Given the description of an element on the screen output the (x, y) to click on. 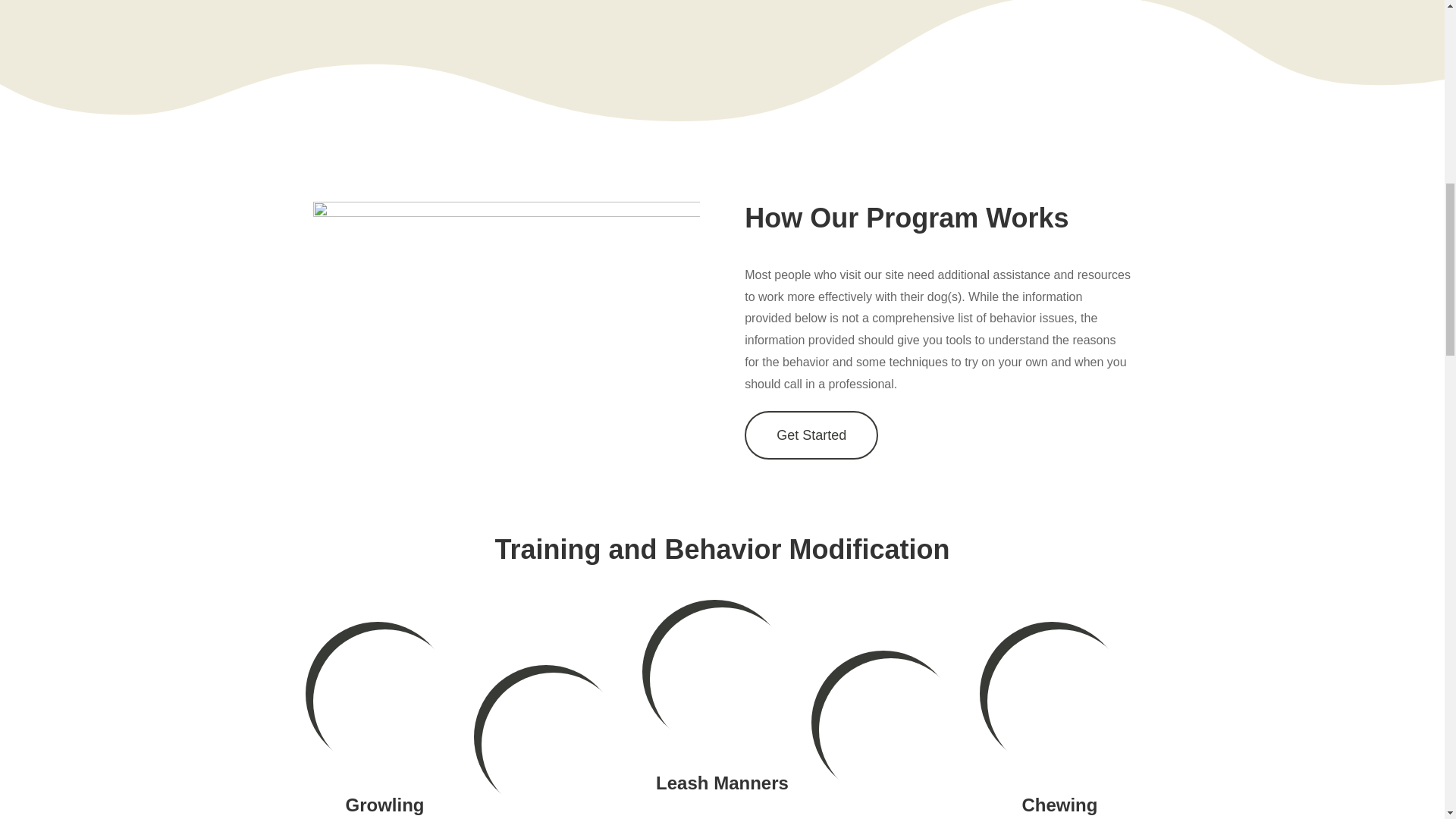
Get Started (810, 435)
